Given the description of an element on the screen output the (x, y) to click on. 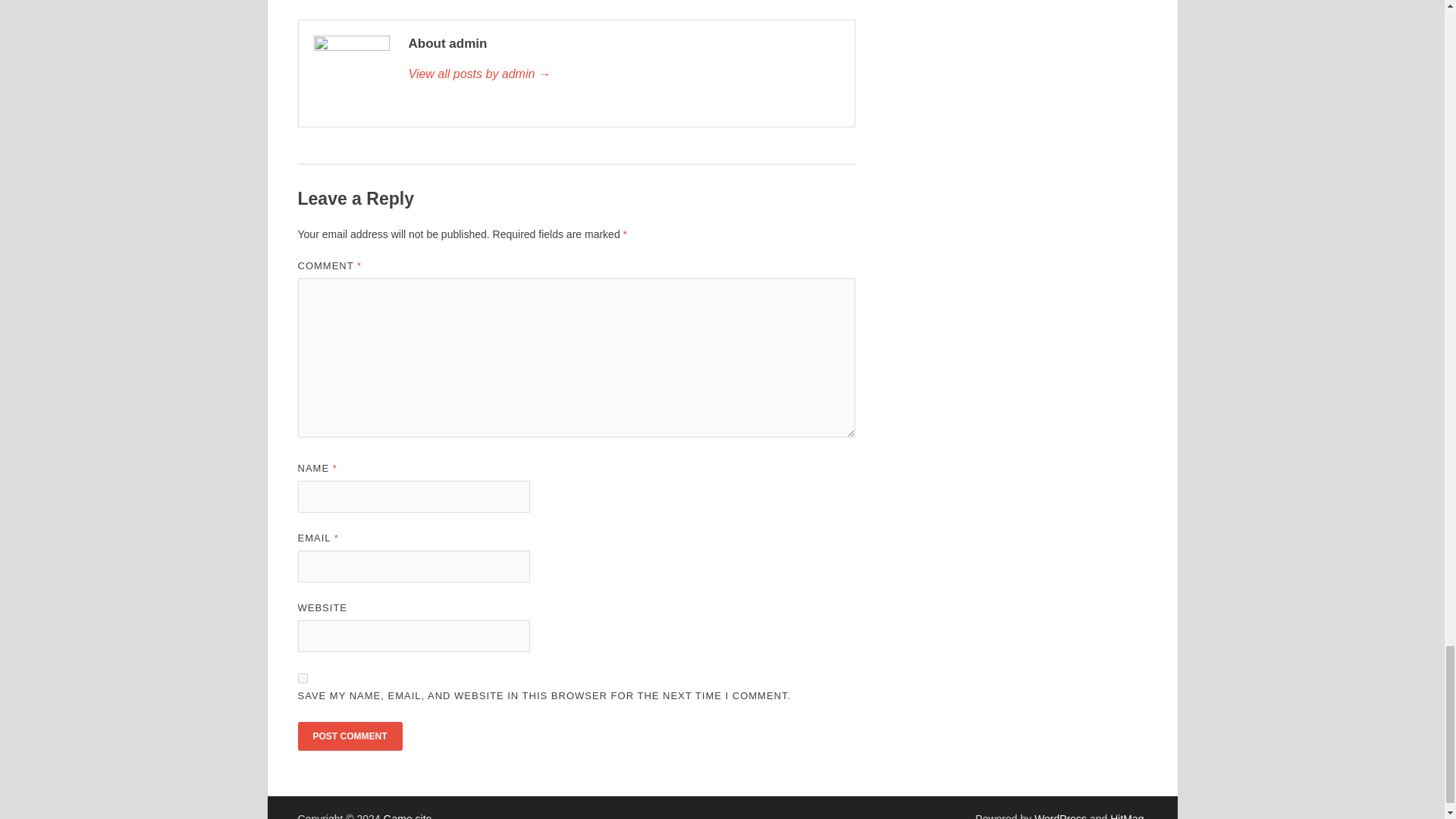
admin (622, 74)
Post Comment (349, 736)
yes (302, 678)
Post Comment (349, 736)
